Given the description of an element on the screen output the (x, y) to click on. 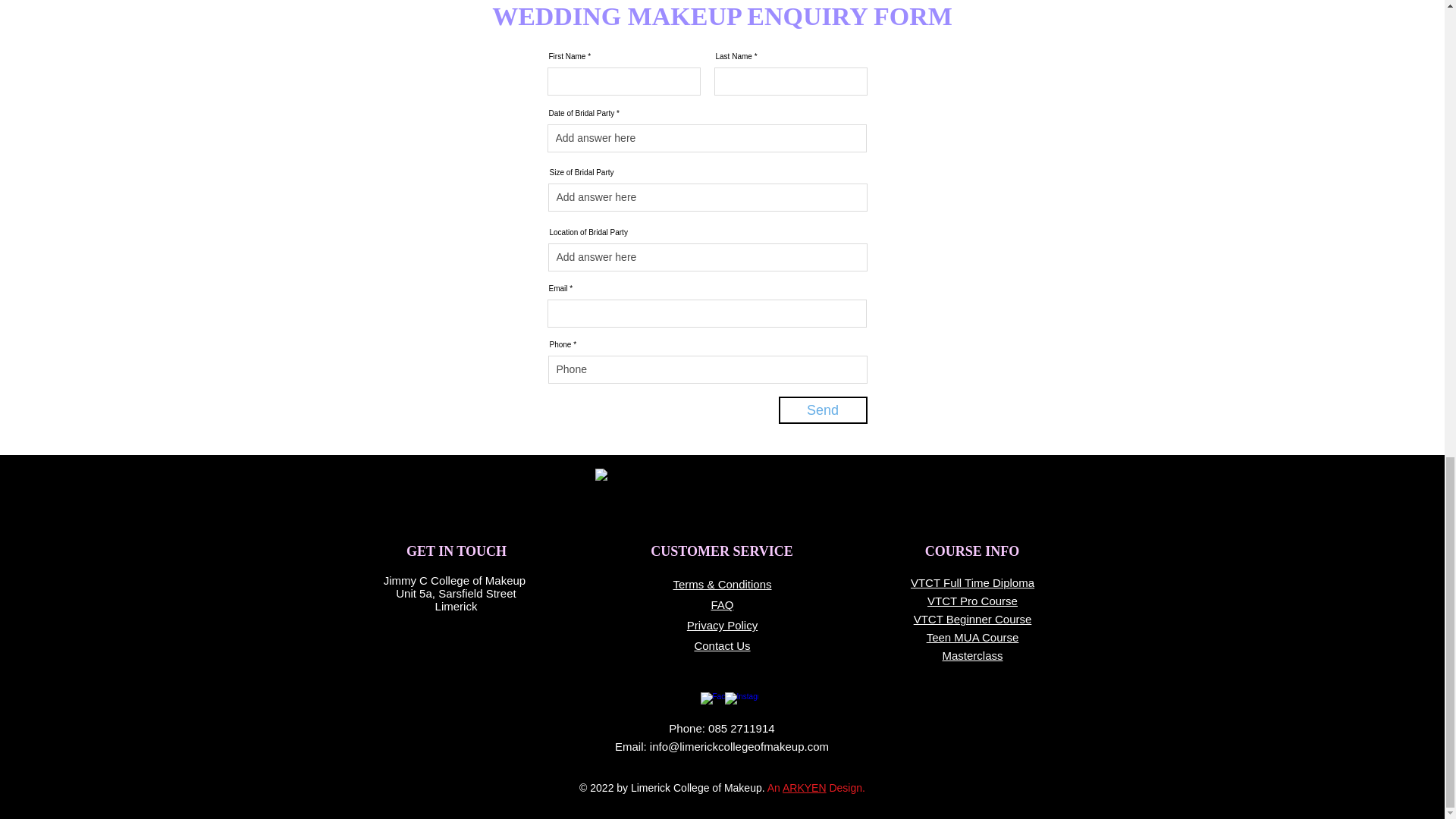
An ARKYEN Design. (815, 787)
VTCT Pro Course (972, 600)
Send (821, 410)
VTCT Beginner Course (973, 618)
Contact Us (721, 645)
FAQ (721, 604)
Teen MUA Course (972, 636)
Privacy Policy (722, 625)
Masterclass (972, 655)
VTCT Full Time Diploma (972, 582)
